Given the description of an element on the screen output the (x, y) to click on. 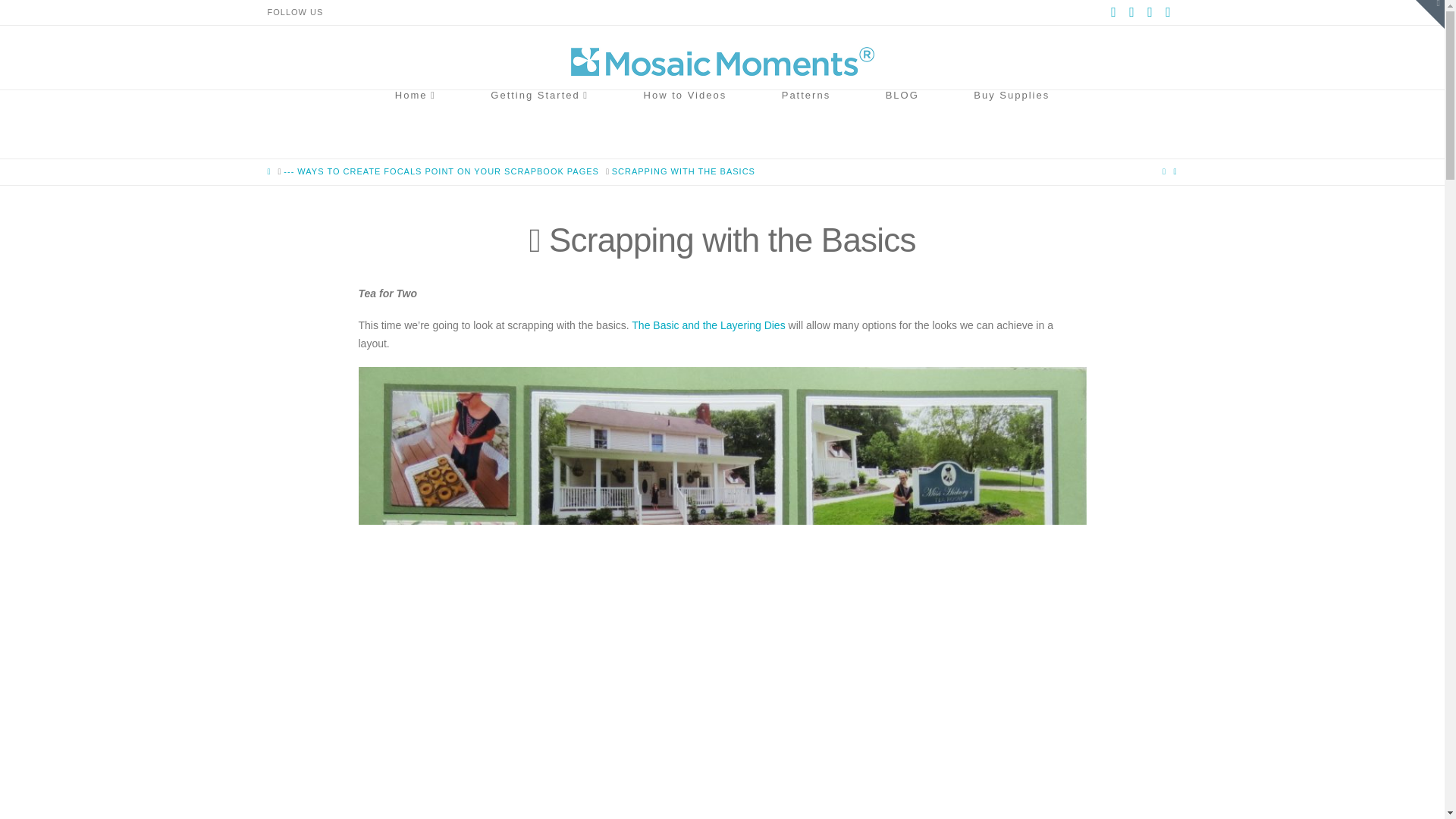
Patterns (805, 124)
Home (416, 124)
Getting Started (539, 124)
Buy Supplies (1011, 124)
How to Videos (684, 124)
--- WAYS TO CREATE FOCALS POINT ON YOUR SCRAPBOOK PAGES (440, 171)
BLOG (901, 124)
You Are Here (683, 171)
